Given the description of an element on the screen output the (x, y) to click on. 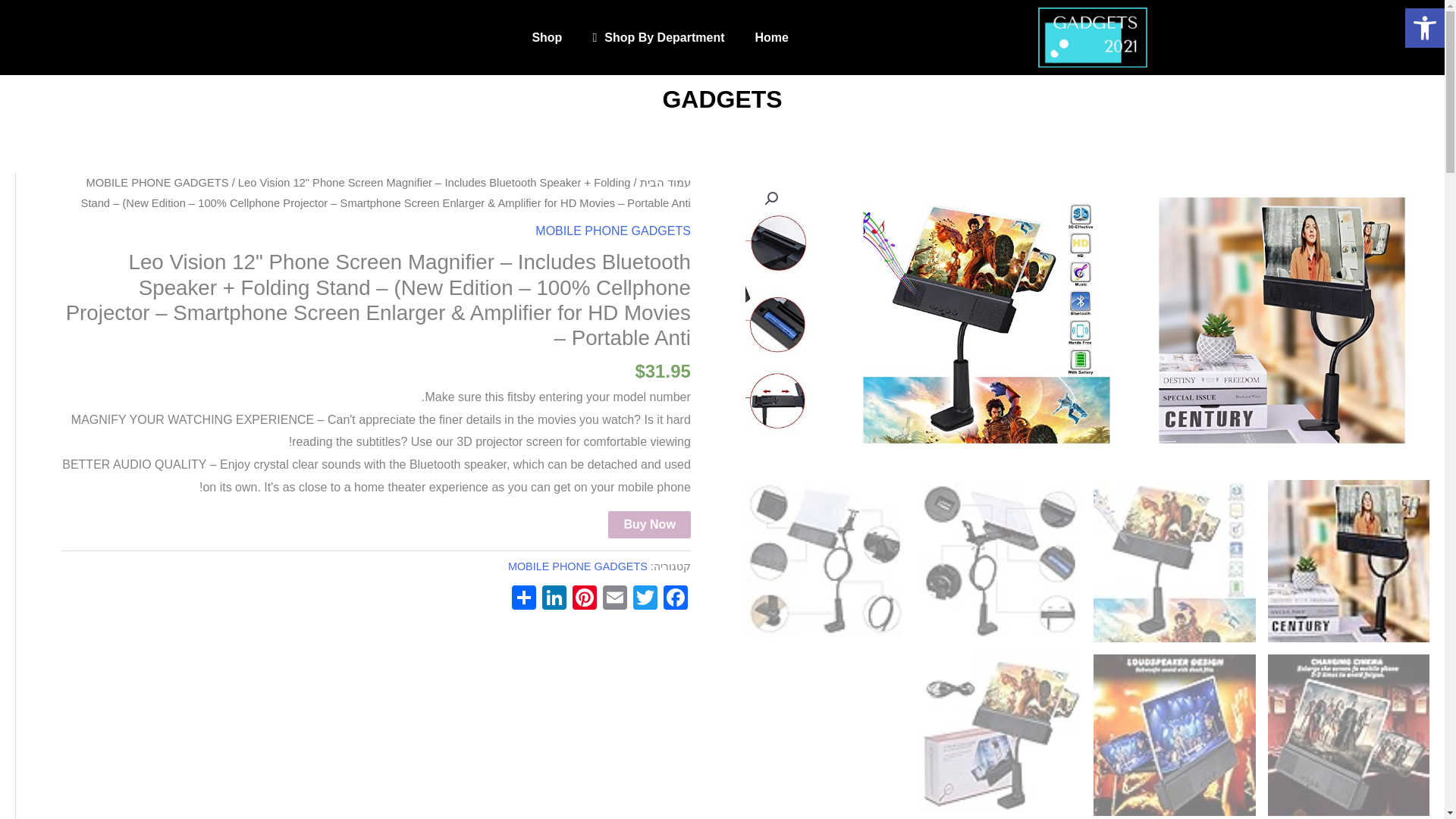
LinkedIn (553, 599)
Email (614, 599)
Shop (546, 37)
Facebook (675, 599)
Home (771, 37)
Shop By Department (657, 37)
Twitter (645, 599)
Pinterest (584, 599)
